Given the description of an element on the screen output the (x, y) to click on. 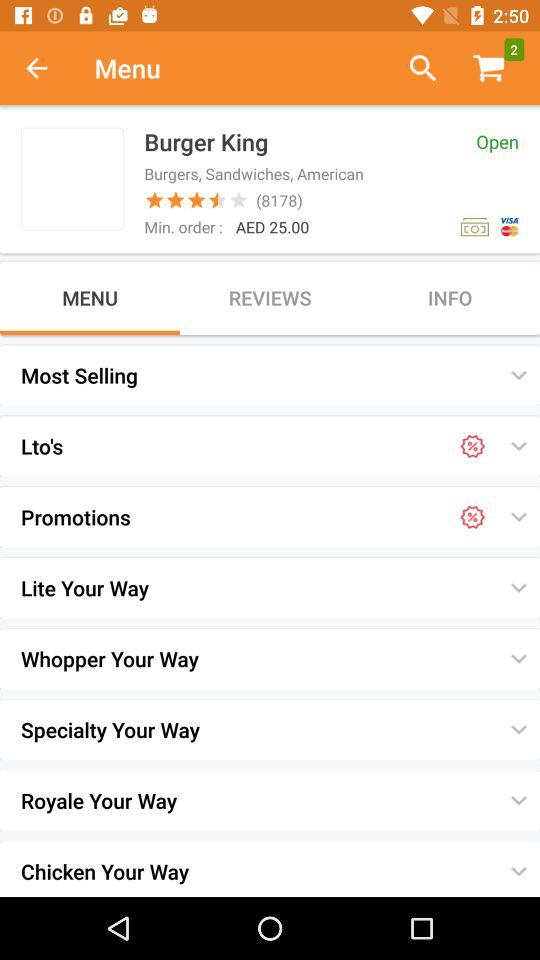
go to search (414, 68)
